Given the description of an element on the screen output the (x, y) to click on. 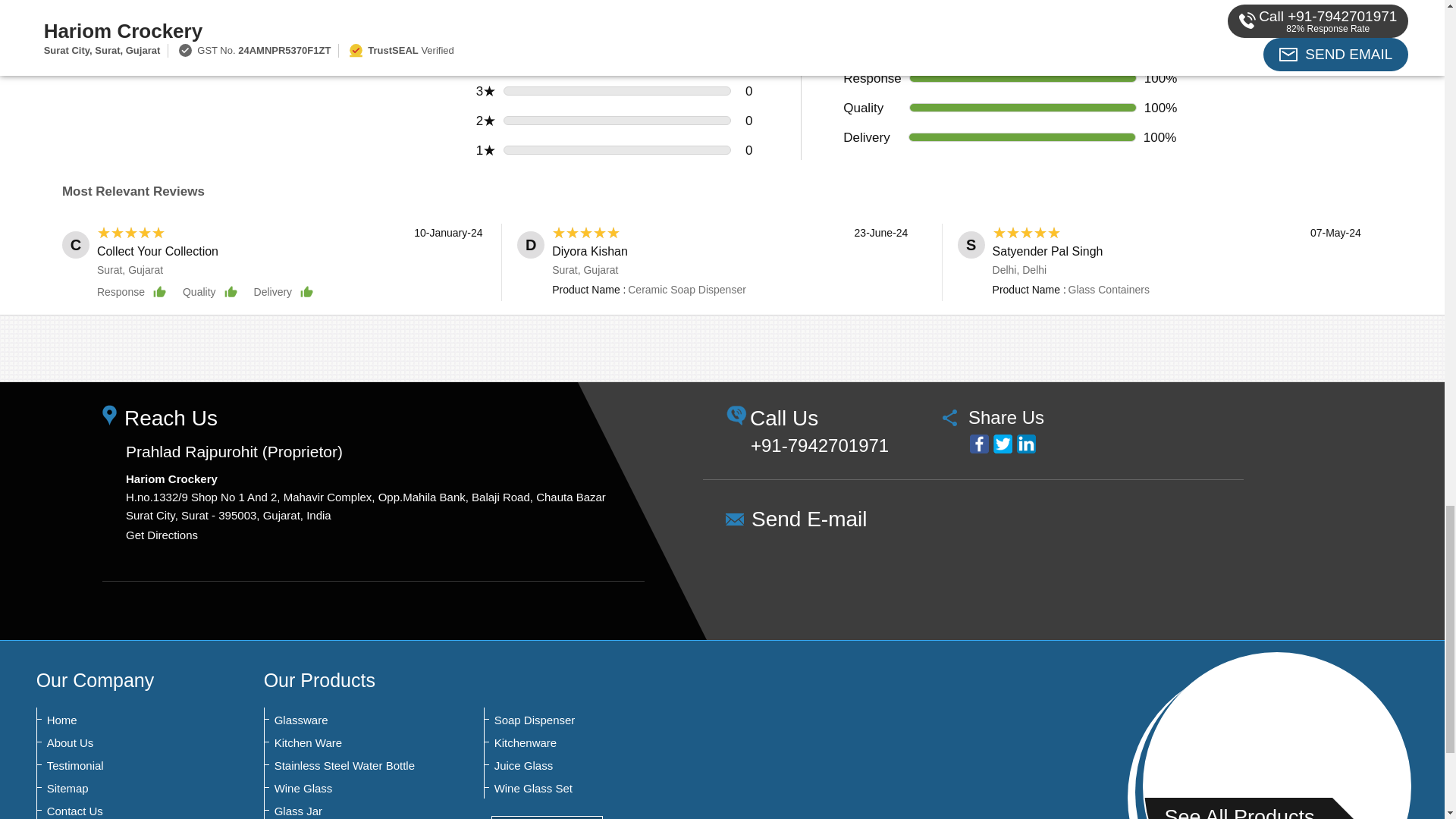
About Us (121, 743)
LinkedIn (1025, 443)
Testimonial (121, 765)
Home (121, 720)
Twitter (1001, 443)
Facebook (978, 443)
Get Directions (161, 534)
